Given the description of an element on the screen output the (x, y) to click on. 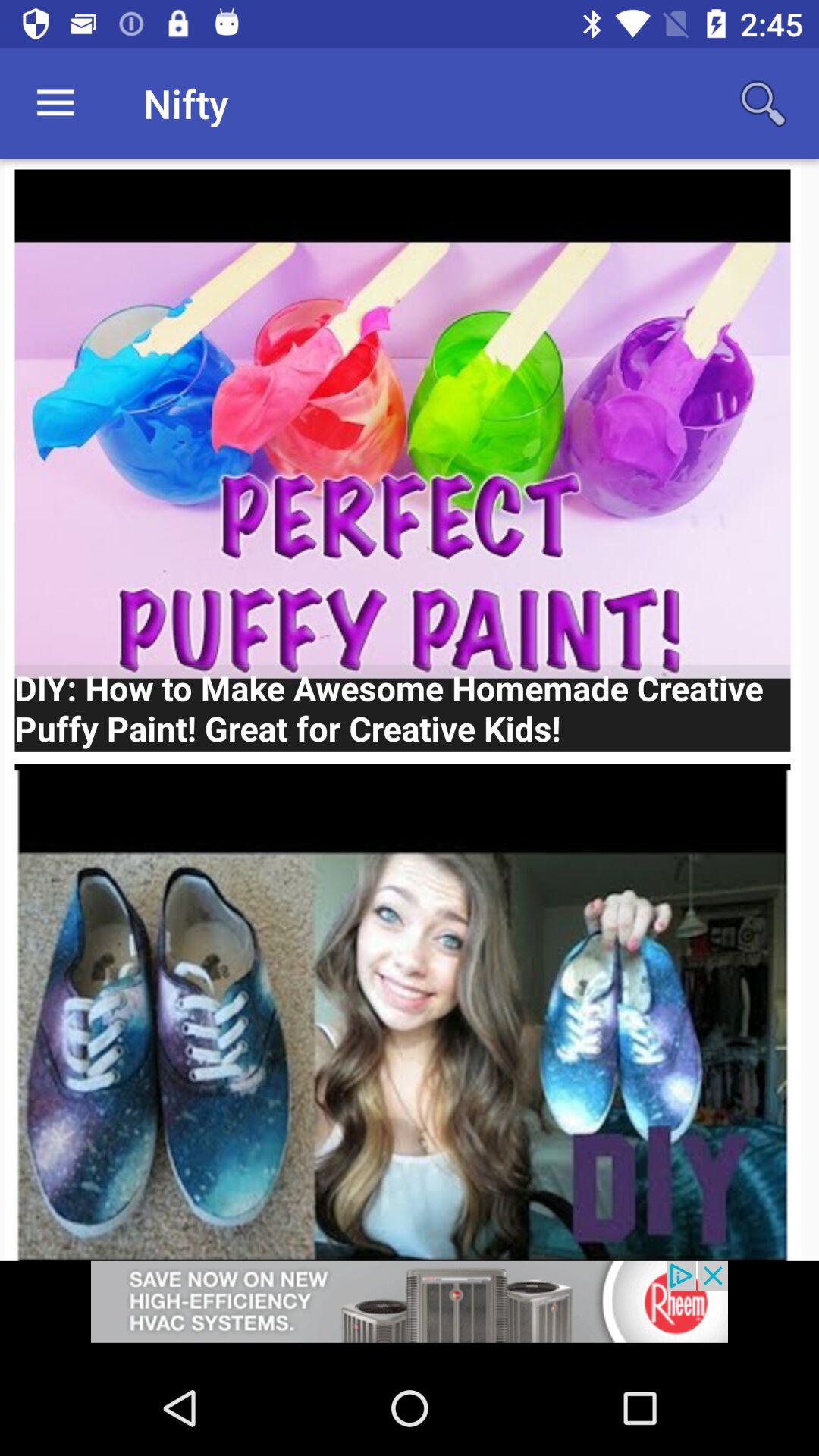
open advertisement (409, 1310)
